Given the description of an element on the screen output the (x, y) to click on. 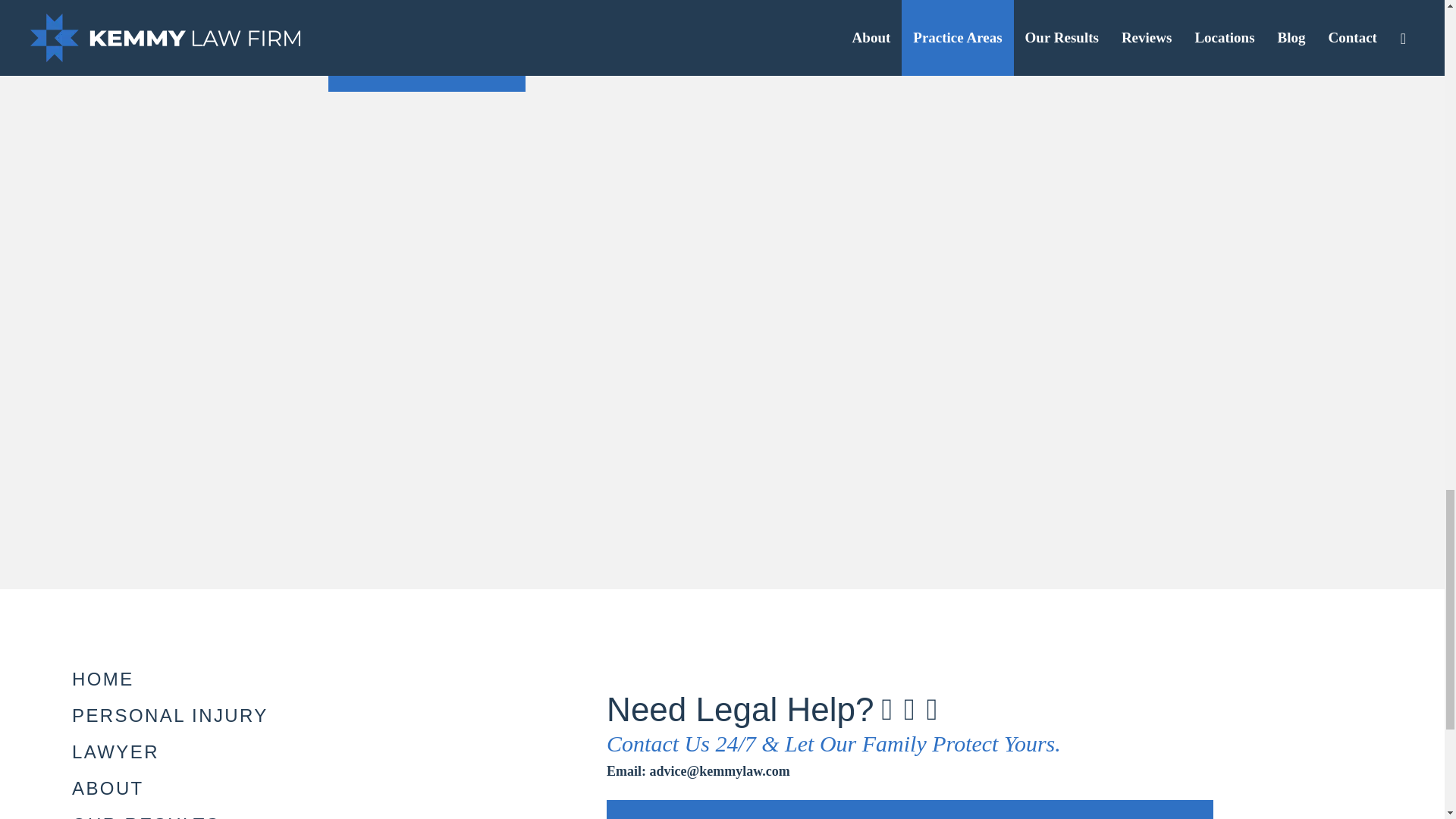
Contact Kemmy Law Firm (425, 68)
Call Kemmy Law Firm Today (425, 15)
Email Kemmy Law Firm (698, 770)
